Given the description of an element on the screen output the (x, y) to click on. 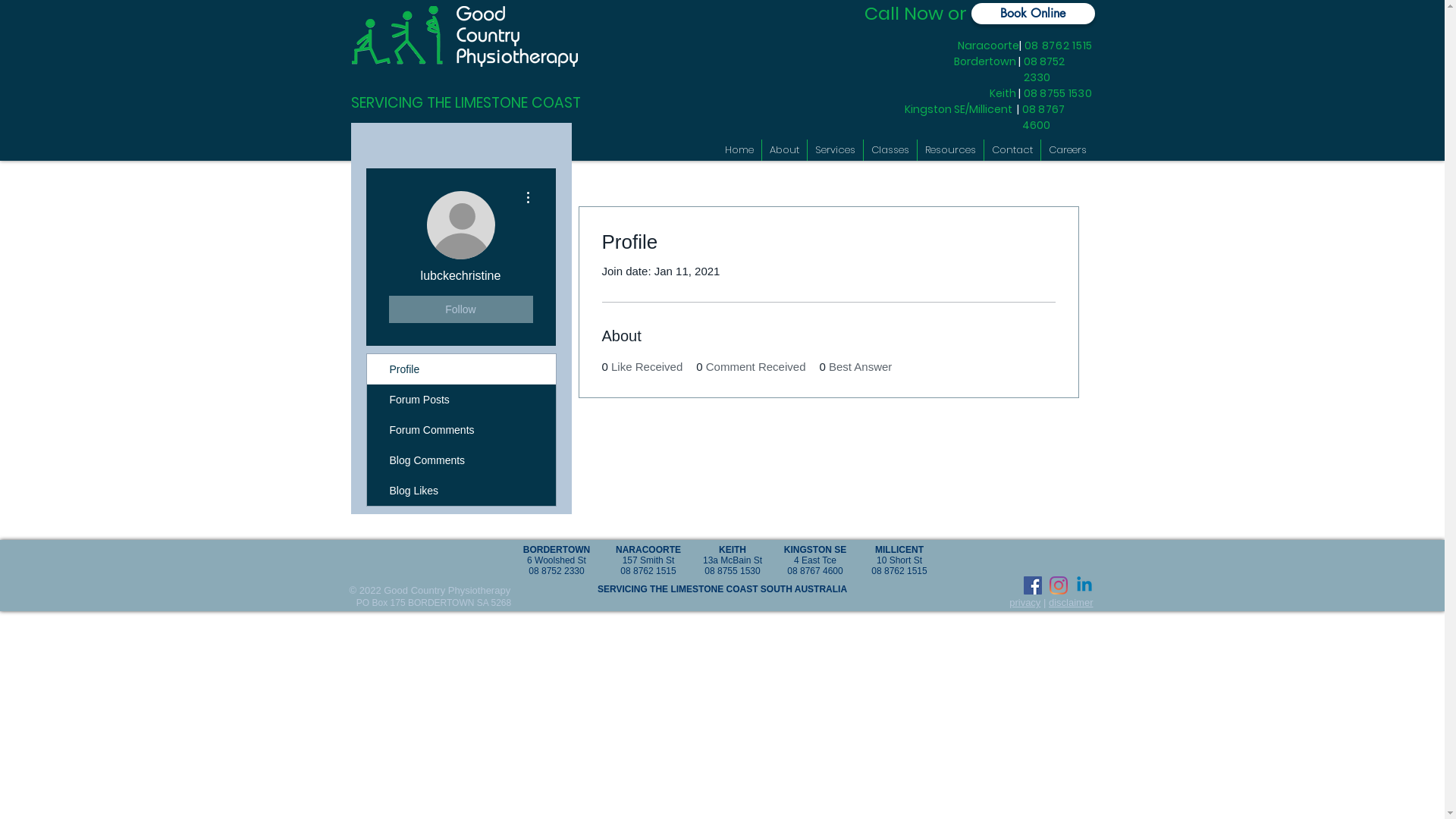
Call Now or  Element type: text (917, 12)
  Element type: text (424, 135)
Services Element type: text (834, 149)
Blog Comments Element type: text (461, 460)
Contact Element type: text (1012, 149)
Naracoorte Element type: text (383, 135)
gcp_col.jpg Element type: hover (464, 36)
Resources Element type: text (950, 149)
disclaimer Element type: text (1070, 602)
Keith Element type: text (518, 135)
Millicent Element type: text (432, 147)
Profile Element type: text (461, 369)
Blog Likes Element type: text (461, 490)
Forum Comments Element type: text (461, 429)
SERVICING THE LIMESTONE COAST Element type: text (465, 102)
About Element type: text (783, 149)
privacy Element type: text (1024, 602)
Careers Element type: text (1066, 149)
Follow Element type: text (460, 309)
Classes Element type: text (889, 149)
Bordertown Element type: text (460, 135)
Home Element type: text (739, 149)
Forum Posts Element type: text (461, 399)
Kingston  Element type: text (377, 147)
| Element type: text (422, 135)
Book Online Element type: text (1032, 13)
